Given the description of an element on the screen output the (x, y) to click on. 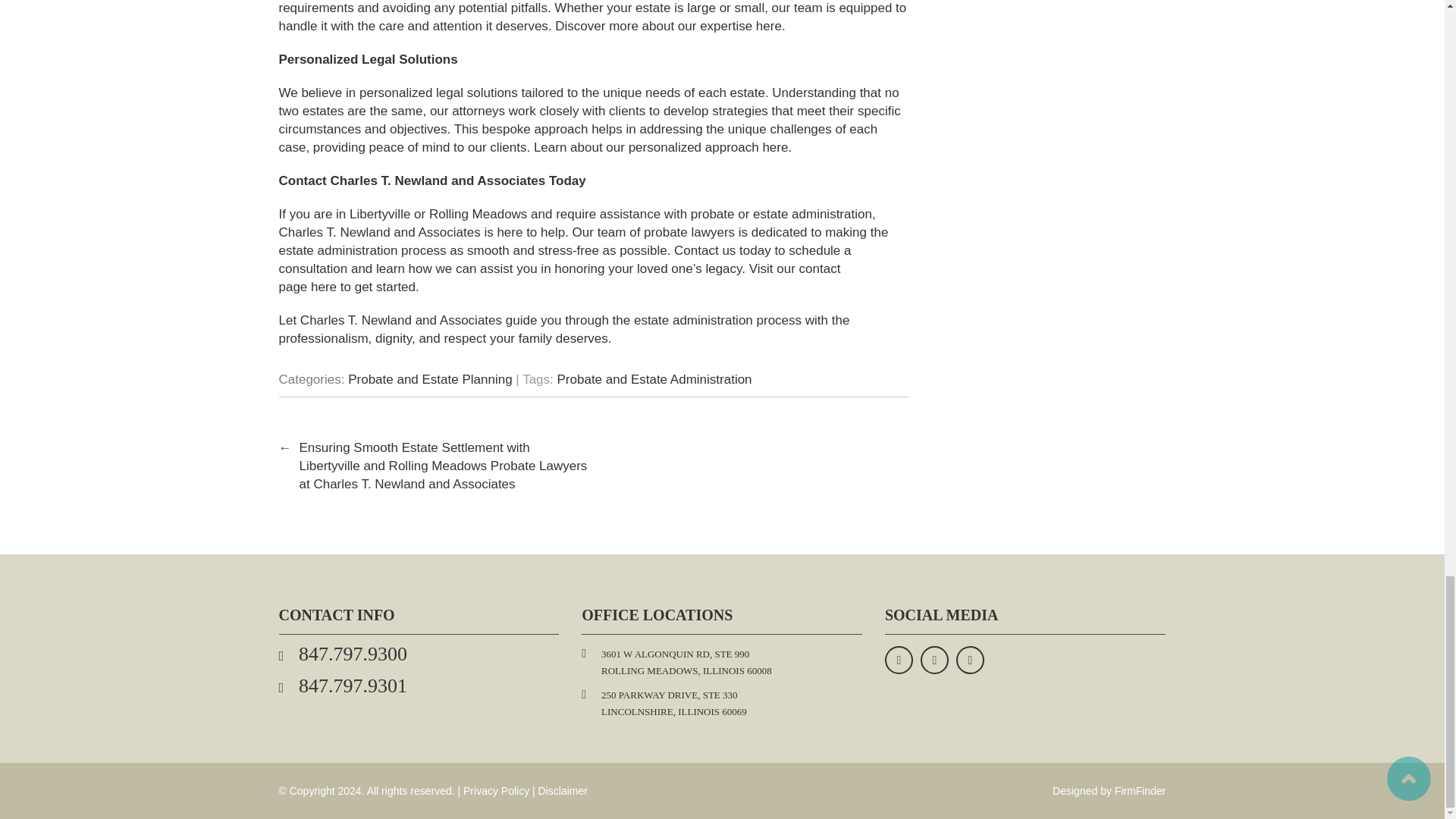
View all posts in Probate and Estate Planning (429, 379)
